Given the description of an element on the screen output the (x, y) to click on. 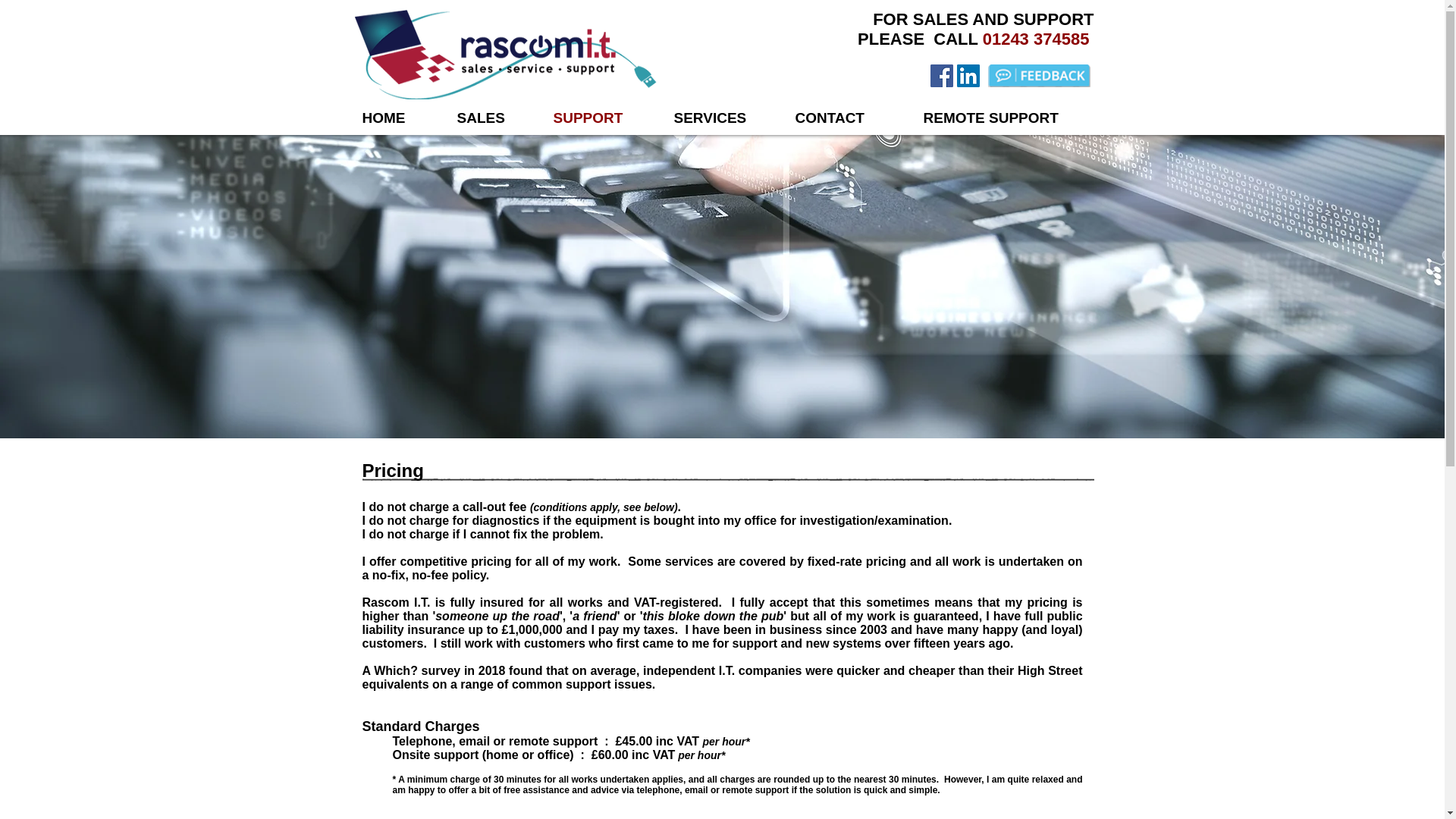
HOME (397, 117)
SALES (493, 117)
REMOTE SUPPORT (1002, 117)
CONTACT (848, 117)
SERVICES (723, 117)
SUPPORT (601, 117)
01243 374585  (1038, 38)
